Given the description of an element on the screen output the (x, y) to click on. 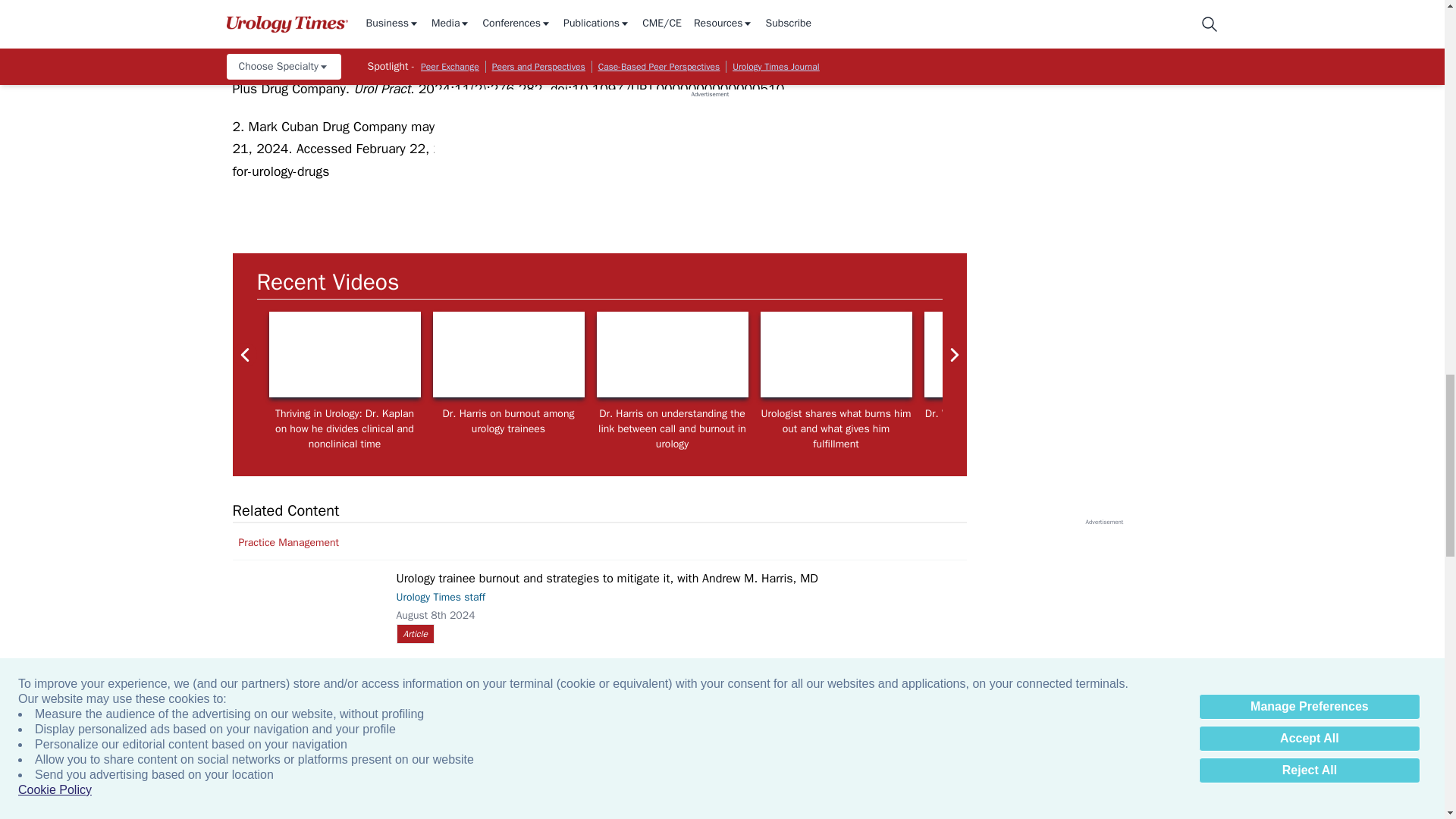
Dr. Wenzel on the lack of resources for pregnant urologists (1326, 354)
Dr. Harris on burnout among urology trainees (507, 354)
